Given the description of an element on the screen output the (x, y) to click on. 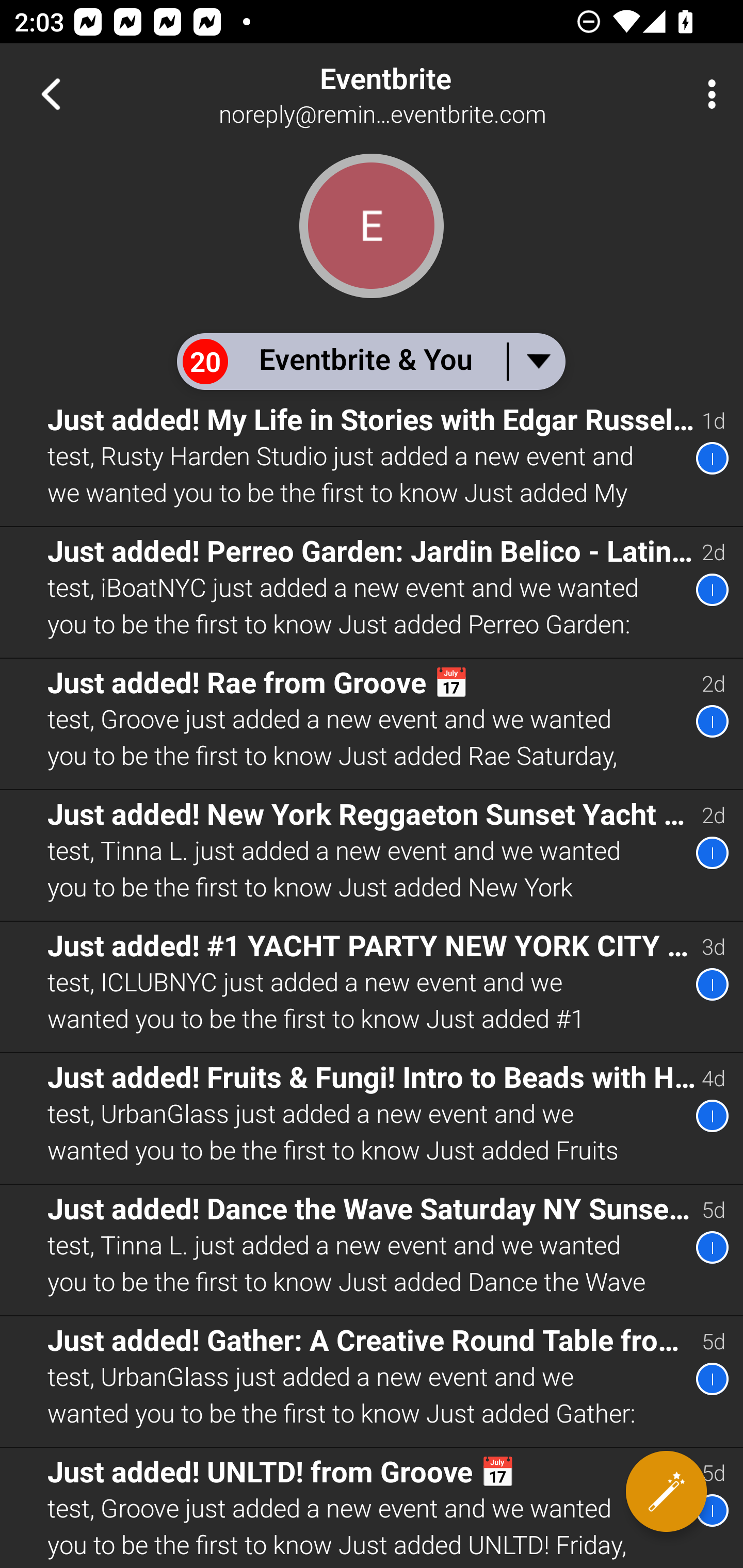
Navigate up (50, 93)
Eventbrite noreply@reminder.eventbrite.com (436, 93)
More Options (706, 93)
20 Eventbrite & You (370, 361)
